Given the description of an element on the screen output the (x, y) to click on. 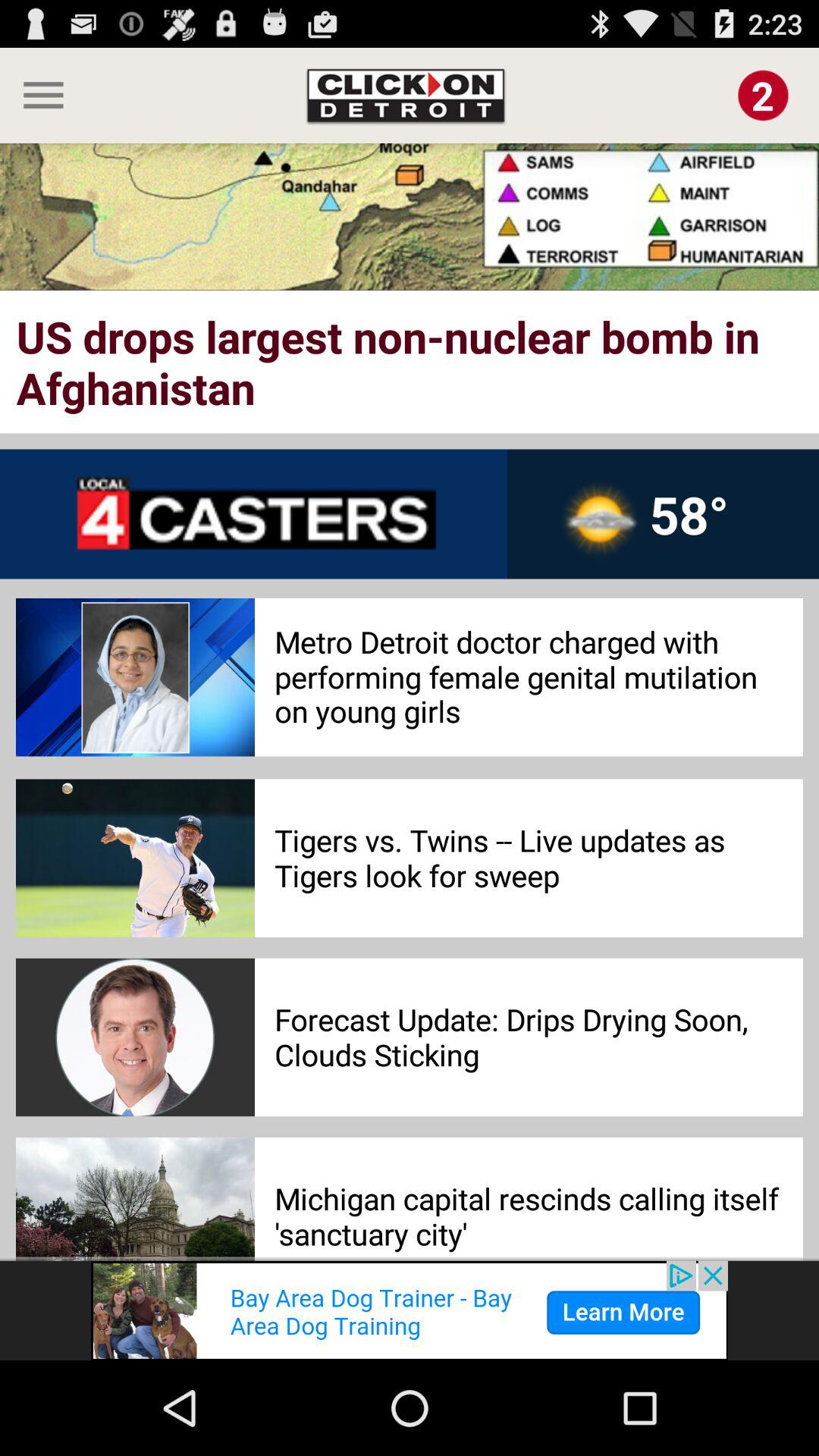
see alerts (762, 95)
